Given the description of an element on the screen output the (x, y) to click on. 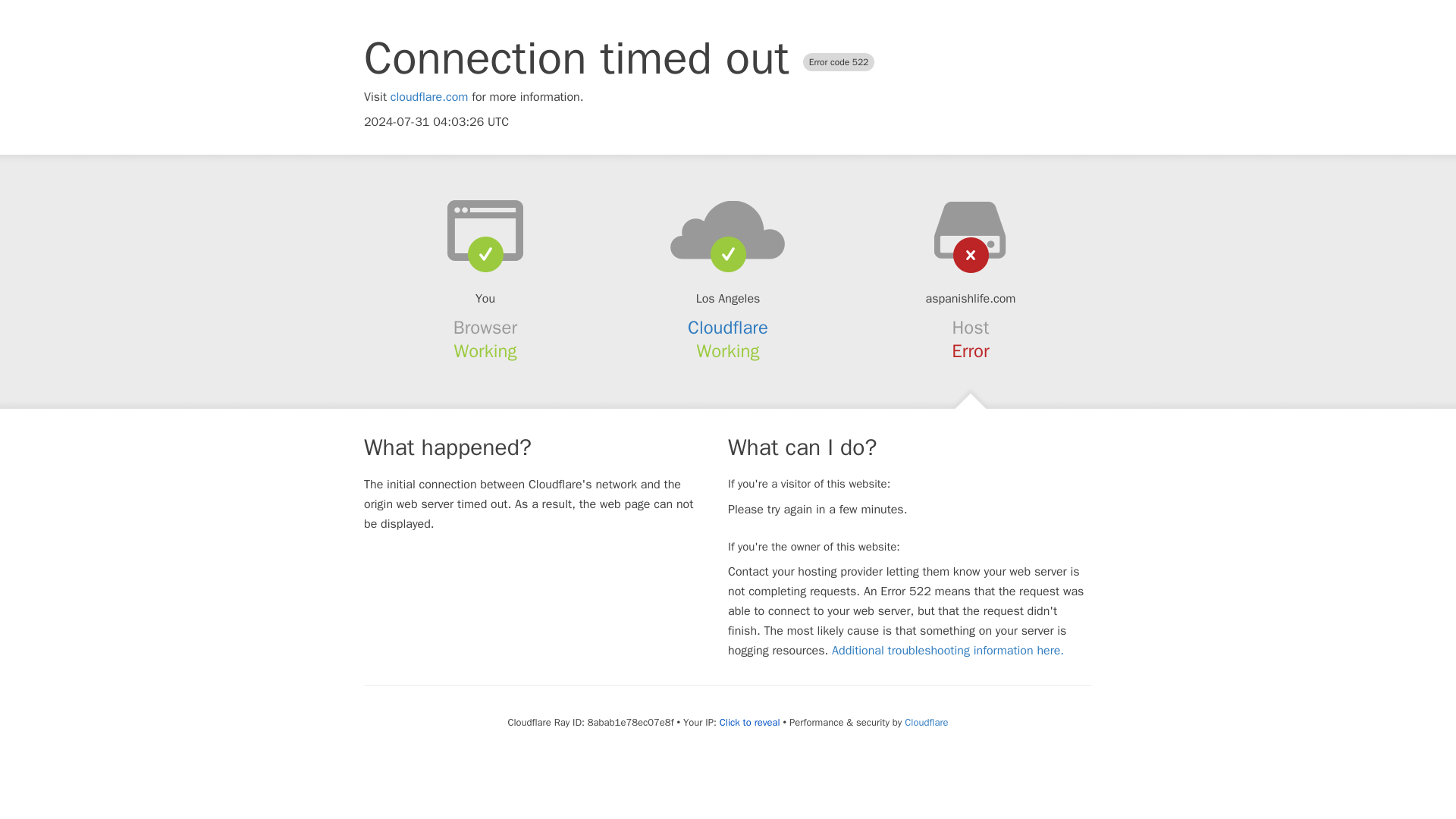
Additional troubleshooting information here. (947, 650)
cloudflare.com (429, 96)
Cloudflare (727, 327)
Click to reveal (749, 722)
Cloudflare (925, 721)
